Given the description of an element on the screen output the (x, y) to click on. 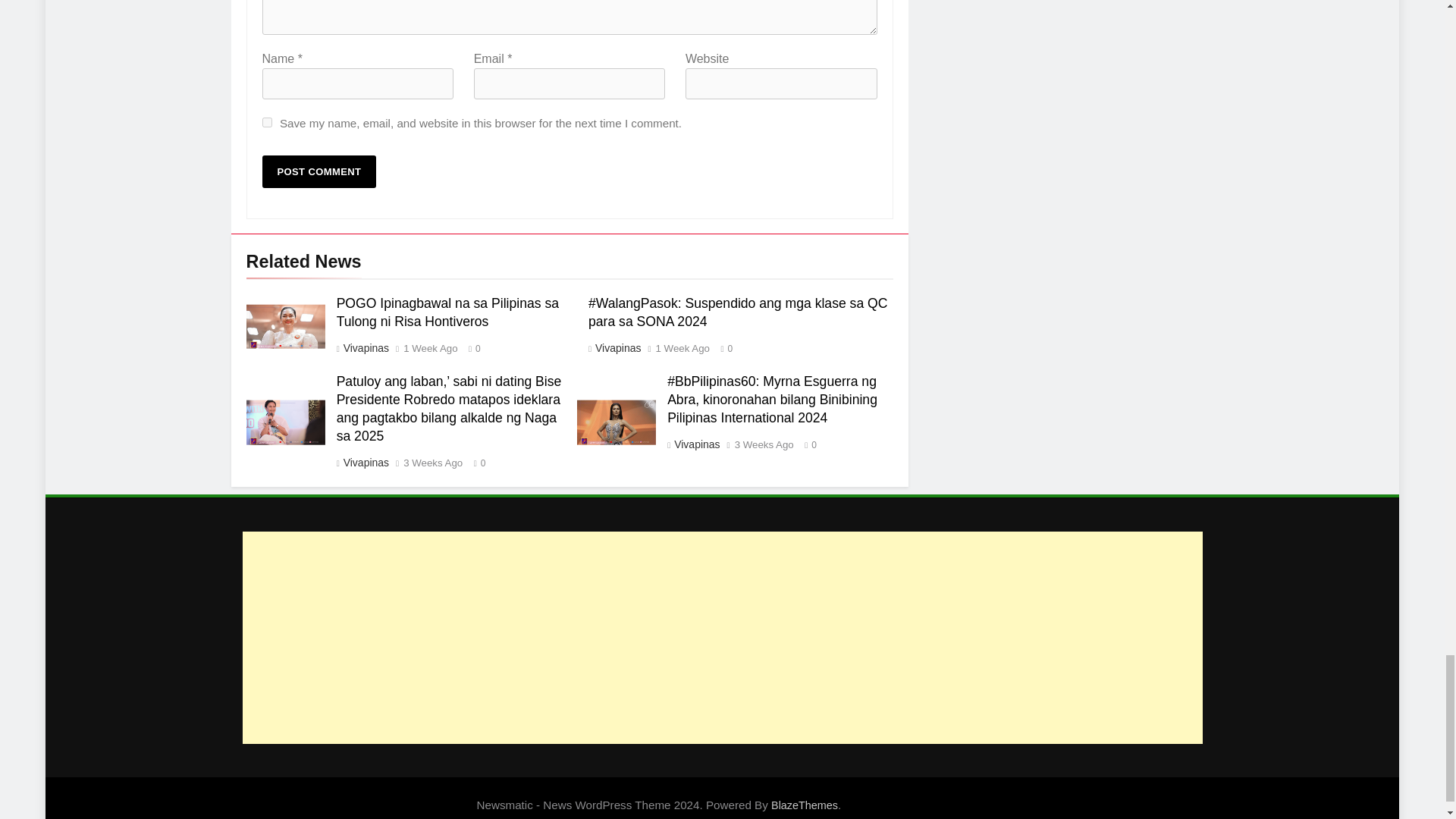
Post Comment (319, 171)
yes (267, 122)
